Given the description of an element on the screen output the (x, y) to click on. 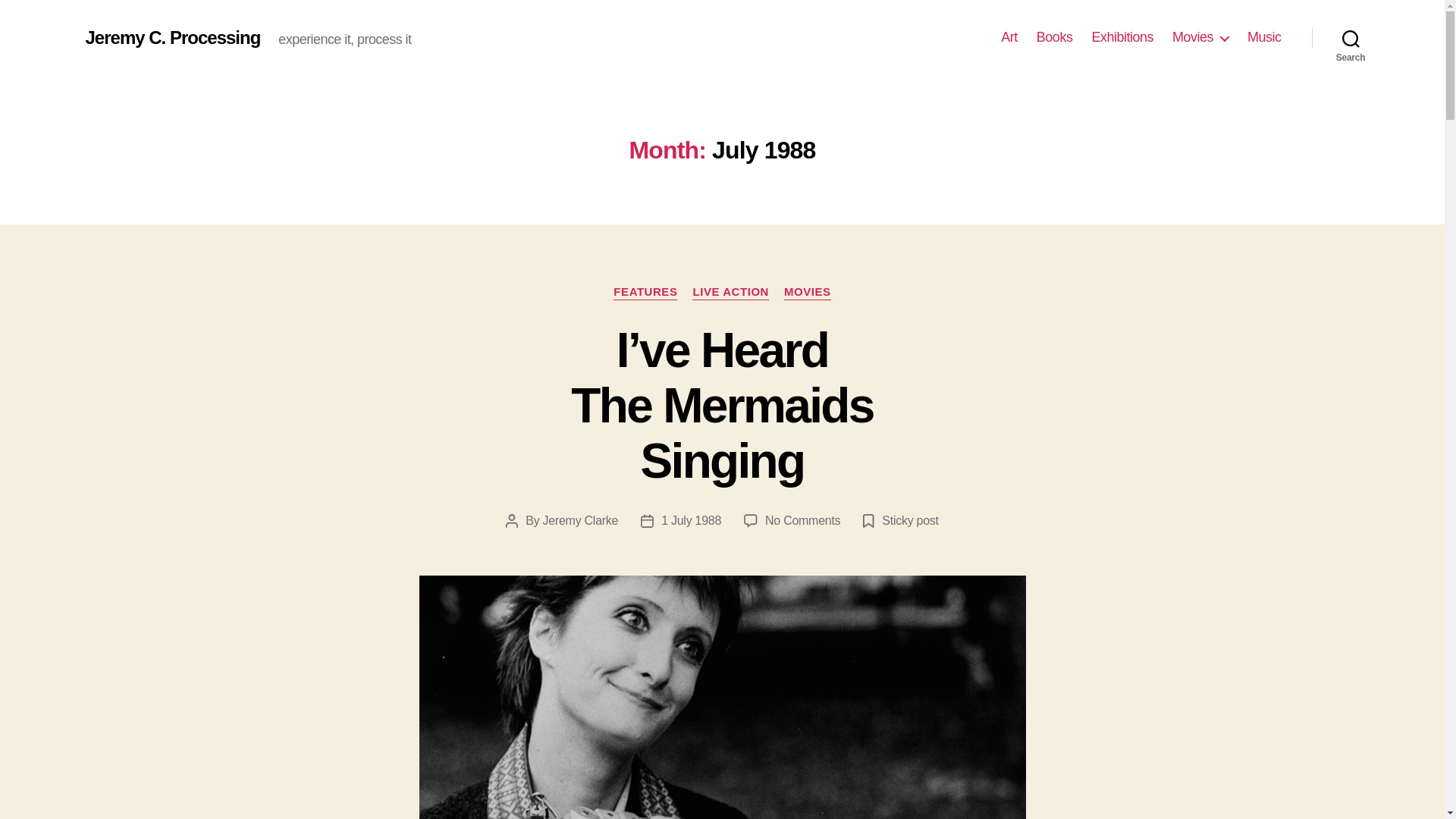
Search (1350, 37)
Movies (1200, 37)
Books (1054, 37)
Jeremy C. Processing (172, 37)
Music (1264, 37)
Jeremy Clarke (580, 520)
1 July 1988 (690, 520)
Exhibitions (1121, 37)
MOVIES (807, 292)
FEATURES (644, 292)
